Given the description of an element on the screen output the (x, y) to click on. 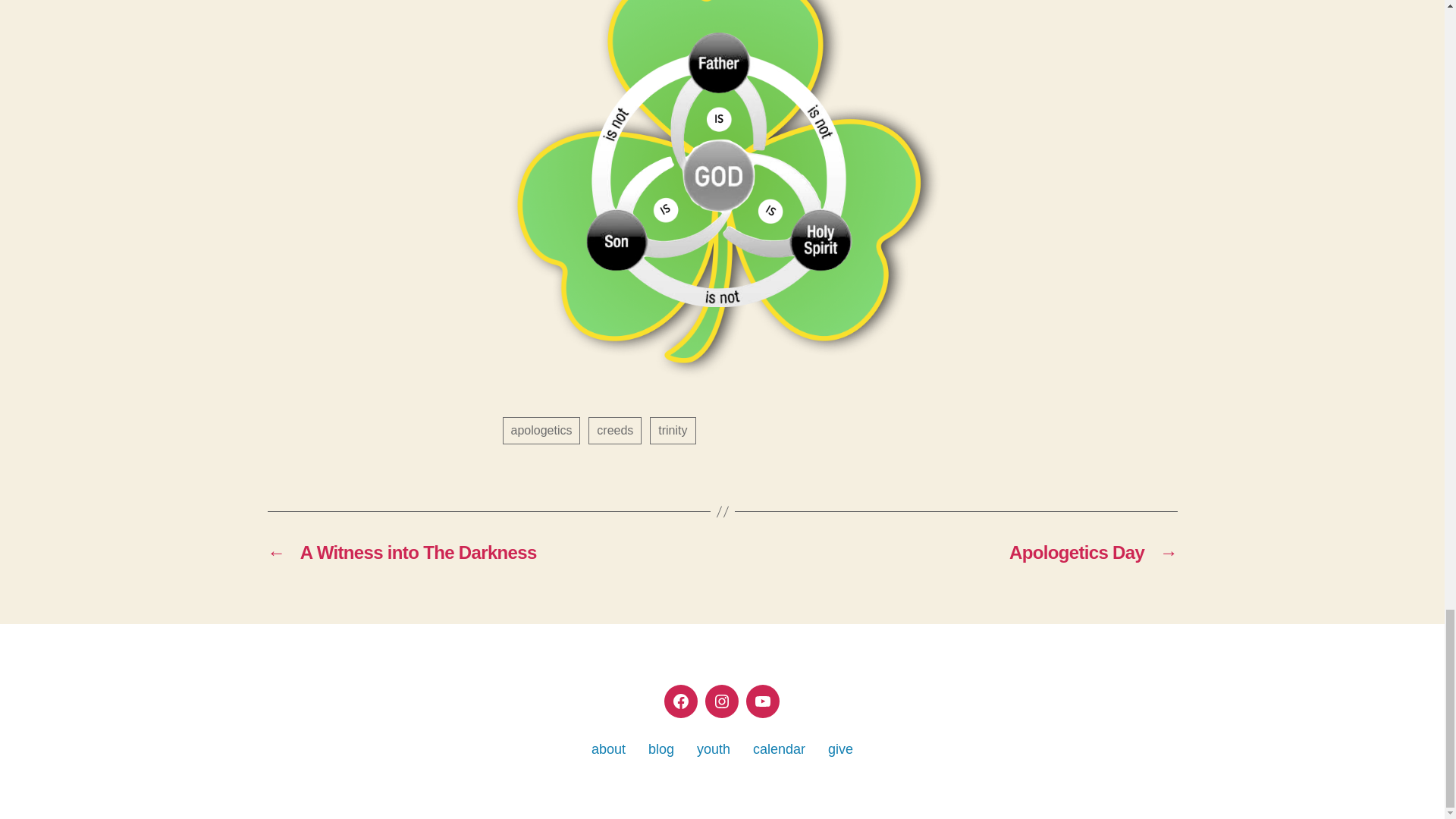
youth (713, 749)
about (608, 749)
facebook.com (680, 701)
instagram.com (721, 701)
trinity (672, 430)
youtube.com (761, 701)
calendar (778, 749)
blog (660, 749)
creeds (615, 430)
give (840, 749)
